Given the description of an element on the screen output the (x, y) to click on. 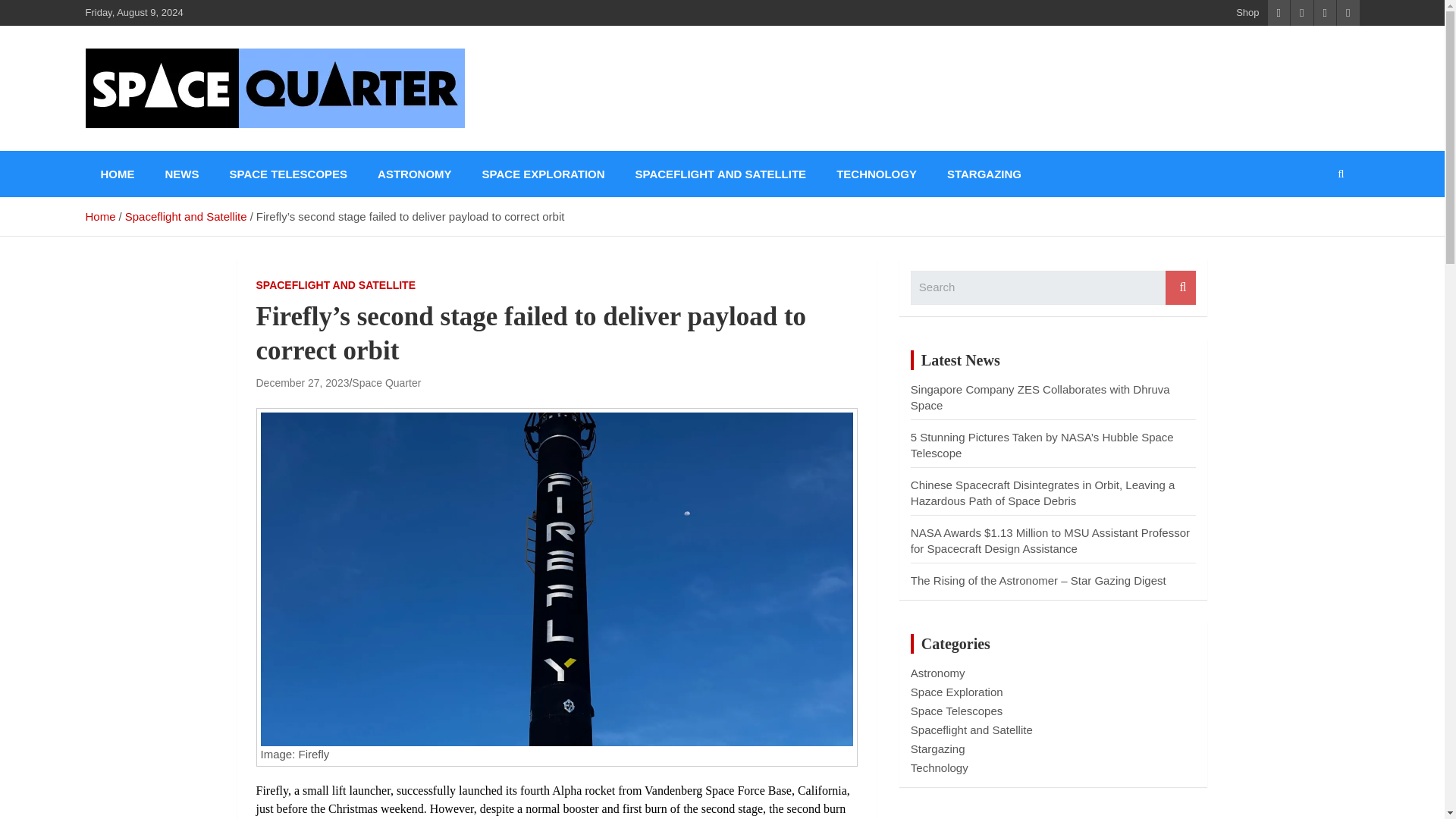
Astronomy (938, 672)
ASTRONOMY (414, 173)
Singapore Company ZES Collaborates with Dhruva Space (1040, 397)
TECHNOLOGY (876, 173)
Home (99, 215)
Shop (1247, 12)
December 27, 2023 (302, 382)
Space Quarter (188, 147)
SPACE TELESCOPES (288, 173)
Search (1180, 287)
